Given the description of an element on the screen output the (x, y) to click on. 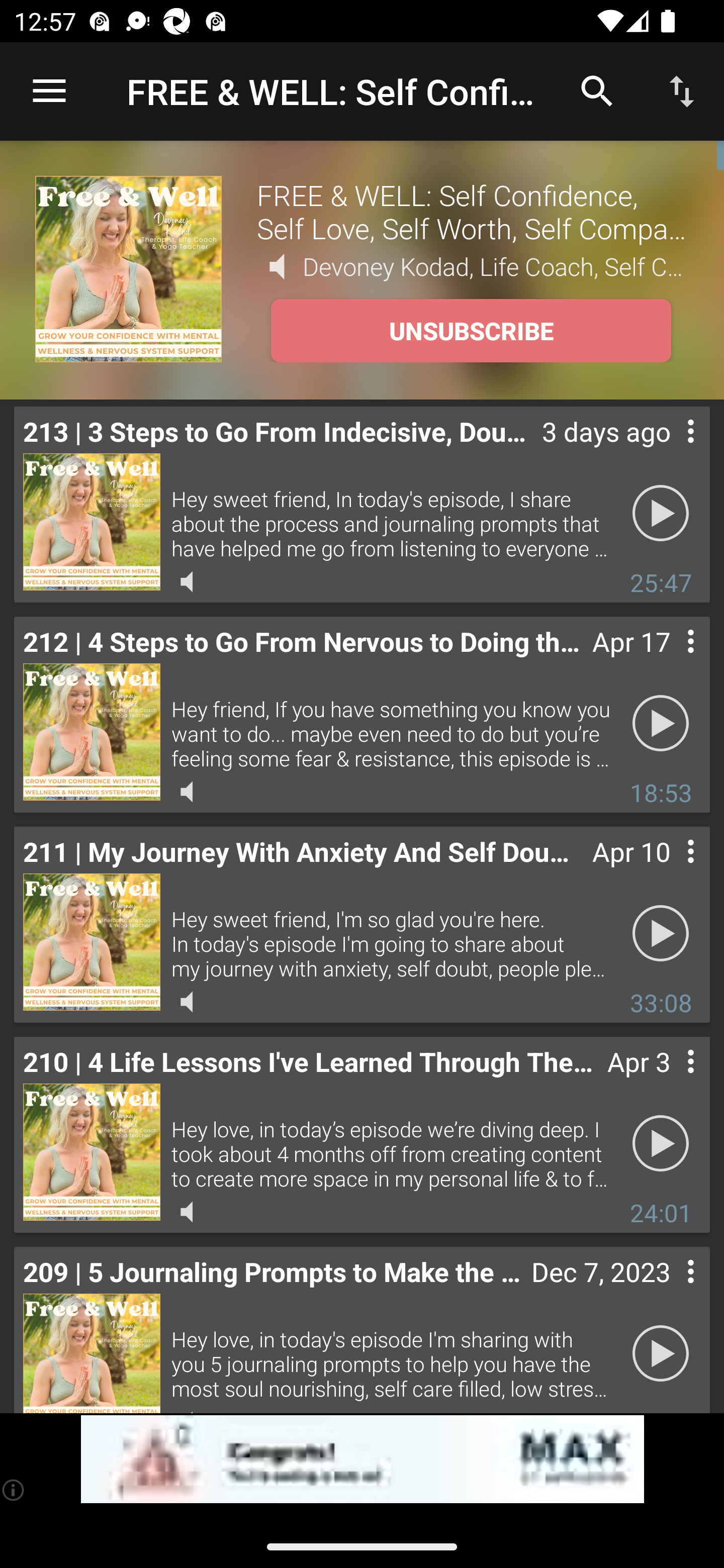
Open navigation sidebar (49, 91)
Search (597, 90)
Sort (681, 90)
UNSUBSCRIBE (470, 330)
Contextual menu (668, 451)
Play (660, 513)
Contextual menu (668, 661)
Play (660, 723)
Contextual menu (668, 870)
Play (660, 933)
Contextual menu (668, 1080)
Play (660, 1143)
Contextual menu (668, 1290)
Play (660, 1353)
app-monetization (362, 1459)
(i) (14, 1489)
